Given the description of an element on the screen output the (x, y) to click on. 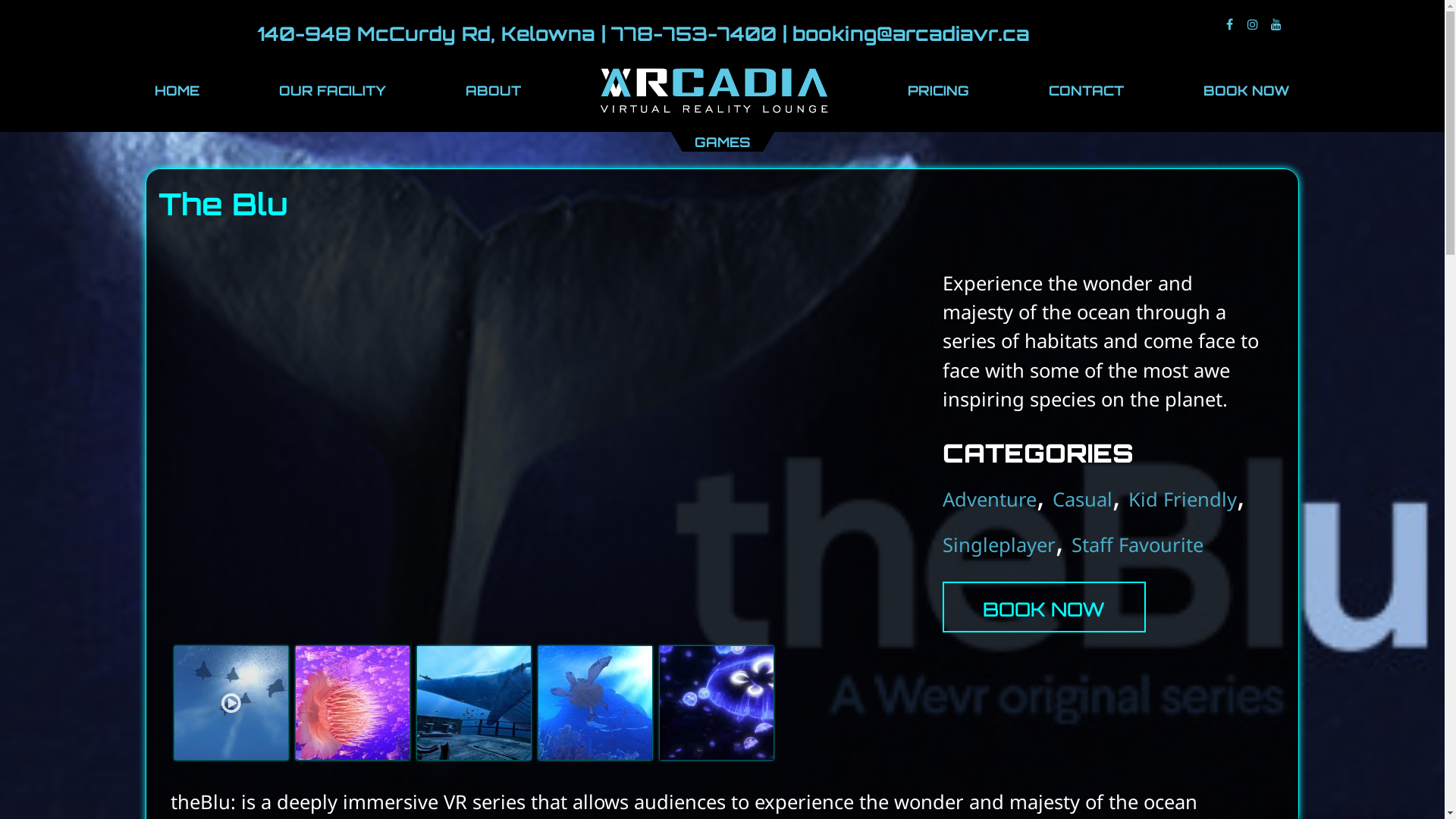
CONTACT Element type: text (1085, 89)
Singleplayer Element type: text (998, 543)
PRICING Element type: text (938, 89)
778-753-7400 Element type: text (693, 33)
BOOK NOW Element type: text (1246, 89)
Adventure Element type: text (989, 498)
booking@arcadiavr.ca Element type: text (910, 33)
GAMES Element type: text (722, 141)
Staff Favourite Element type: text (1137, 543)
140-948 McCurdy Rd, Kelowna Element type: text (426, 33)
HOME Element type: text (177, 89)
BOOK NOW Element type: text (1043, 606)
Kid Friendly Element type: text (1182, 498)
Casual Element type: text (1082, 498)
OUR FACILITY Element type: text (332, 89)
ABOUT Element type: text (493, 89)
